Given the description of an element on the screen output the (x, y) to click on. 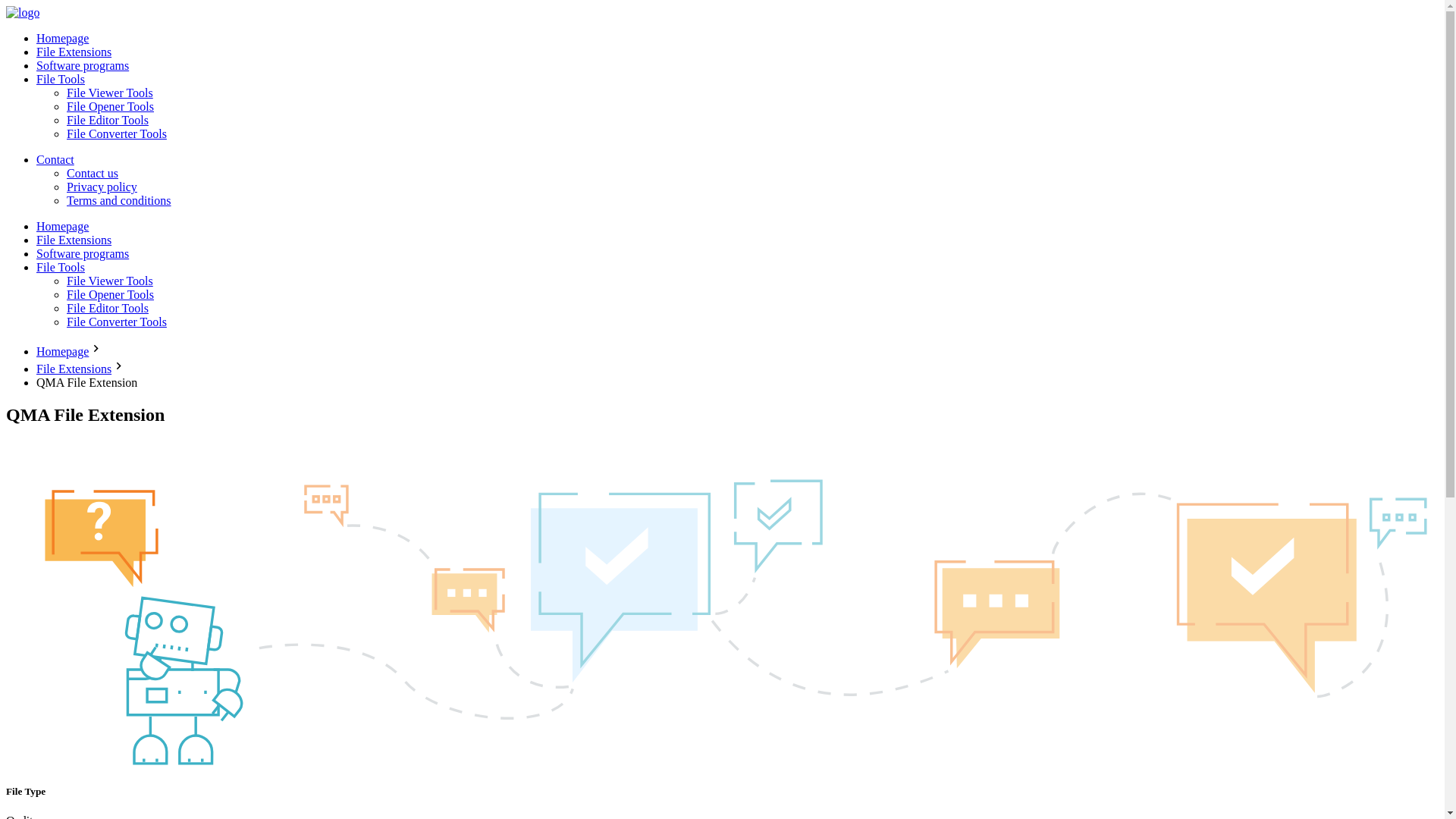
Homepage (62, 350)
File Viewer Tools (109, 280)
File Viewer Tools (109, 92)
Homepage (62, 226)
File Extensions (74, 51)
Software programs (82, 253)
Contact (55, 159)
File Converter Tools (116, 133)
File Editor Tools (107, 308)
File Tools (60, 267)
